Given the description of an element on the screen output the (x, y) to click on. 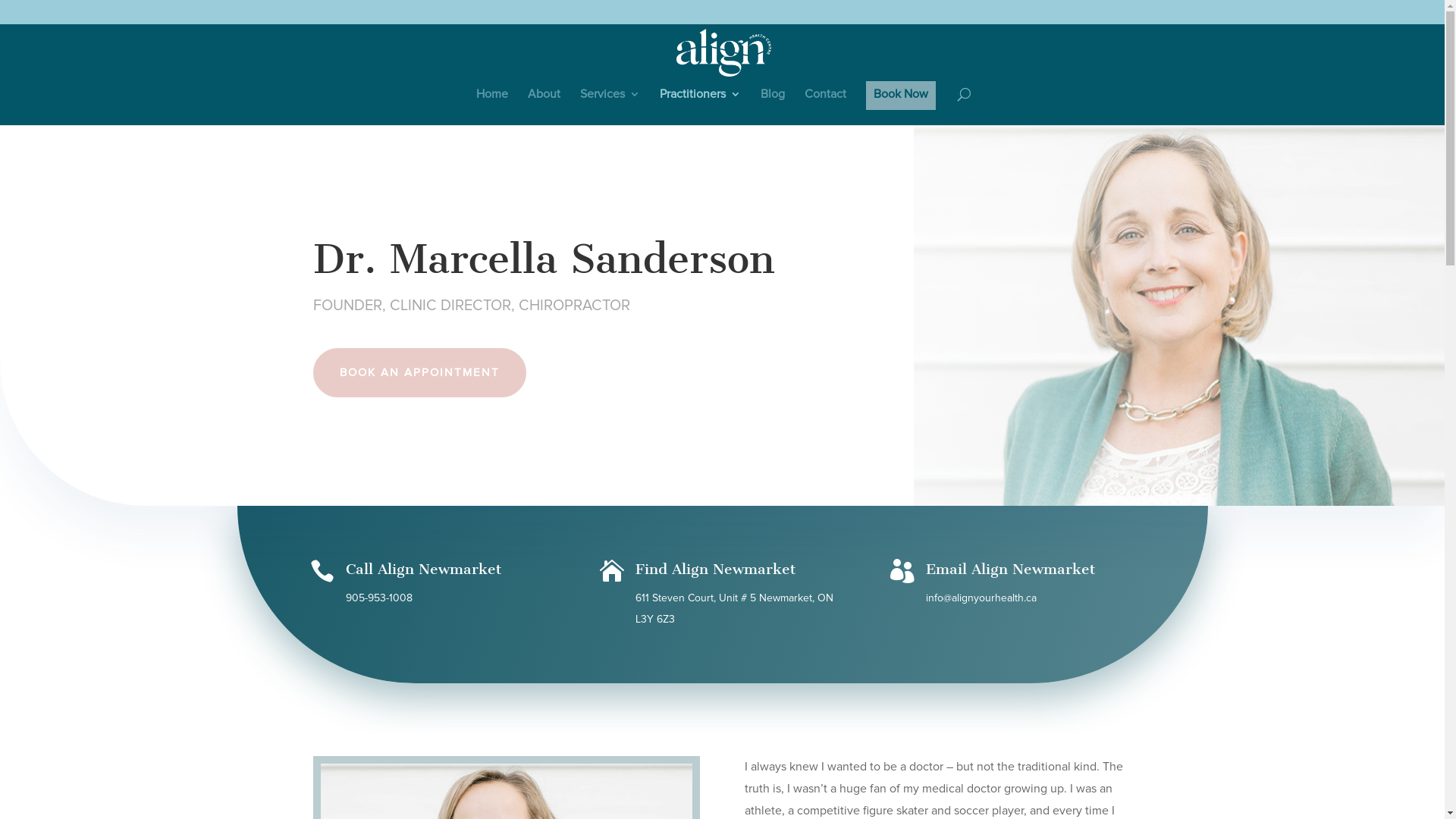
Contact Element type: text (824, 98)
BOOK AN APPOINTMENT Element type: text (418, 373)
Book Now Element type: text (900, 98)
info@alignyourhealth.ca Element type: text (610, 12)
Services Element type: text (609, 98)
Blog Element type: text (771, 98)
About Element type: text (543, 98)
Home Element type: text (492, 98)
Practitioners Element type: text (699, 98)
